Given the description of an element on the screen output the (x, y) to click on. 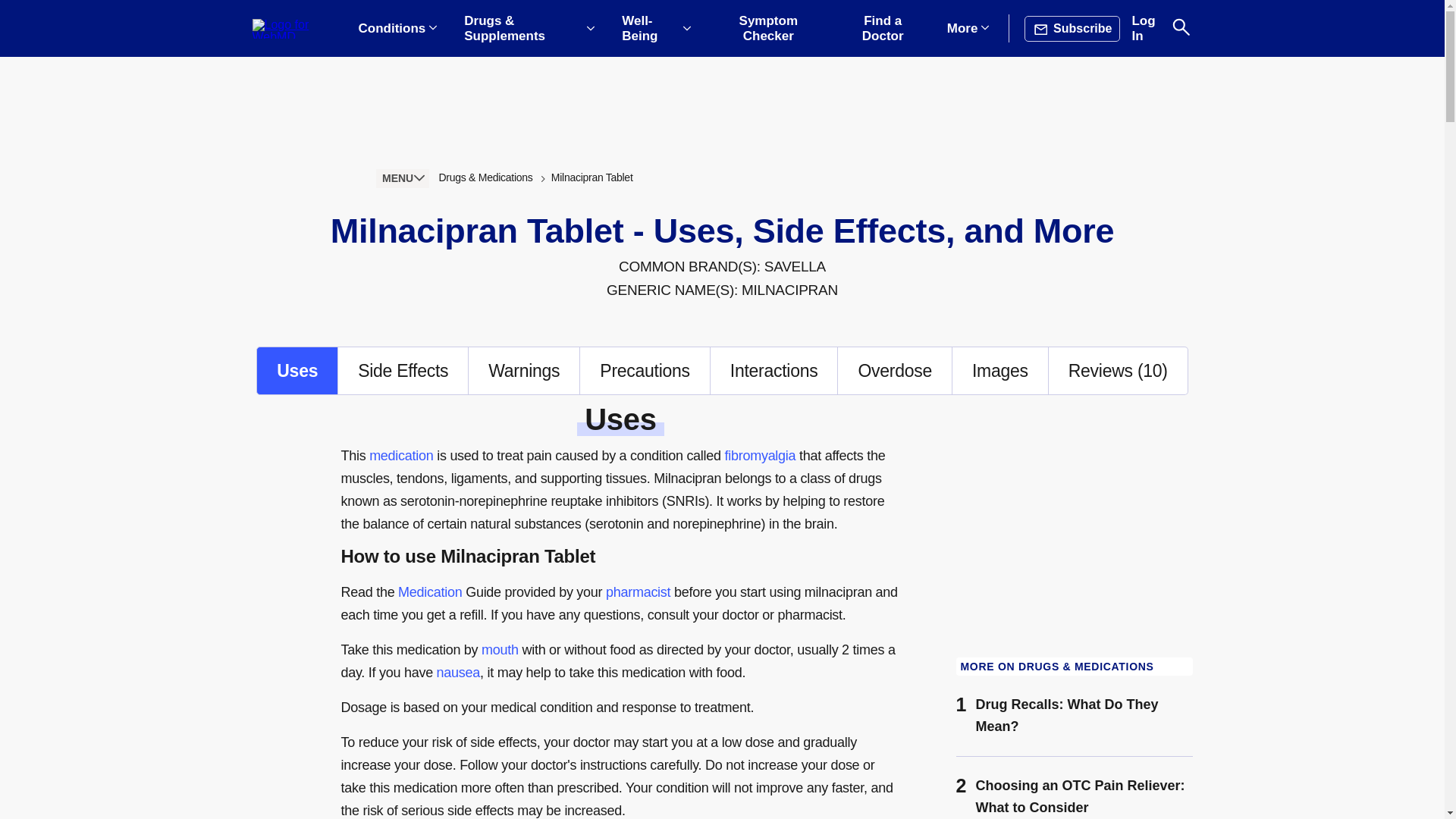
Conditions (397, 28)
